Given the description of an element on the screen output the (x, y) to click on. 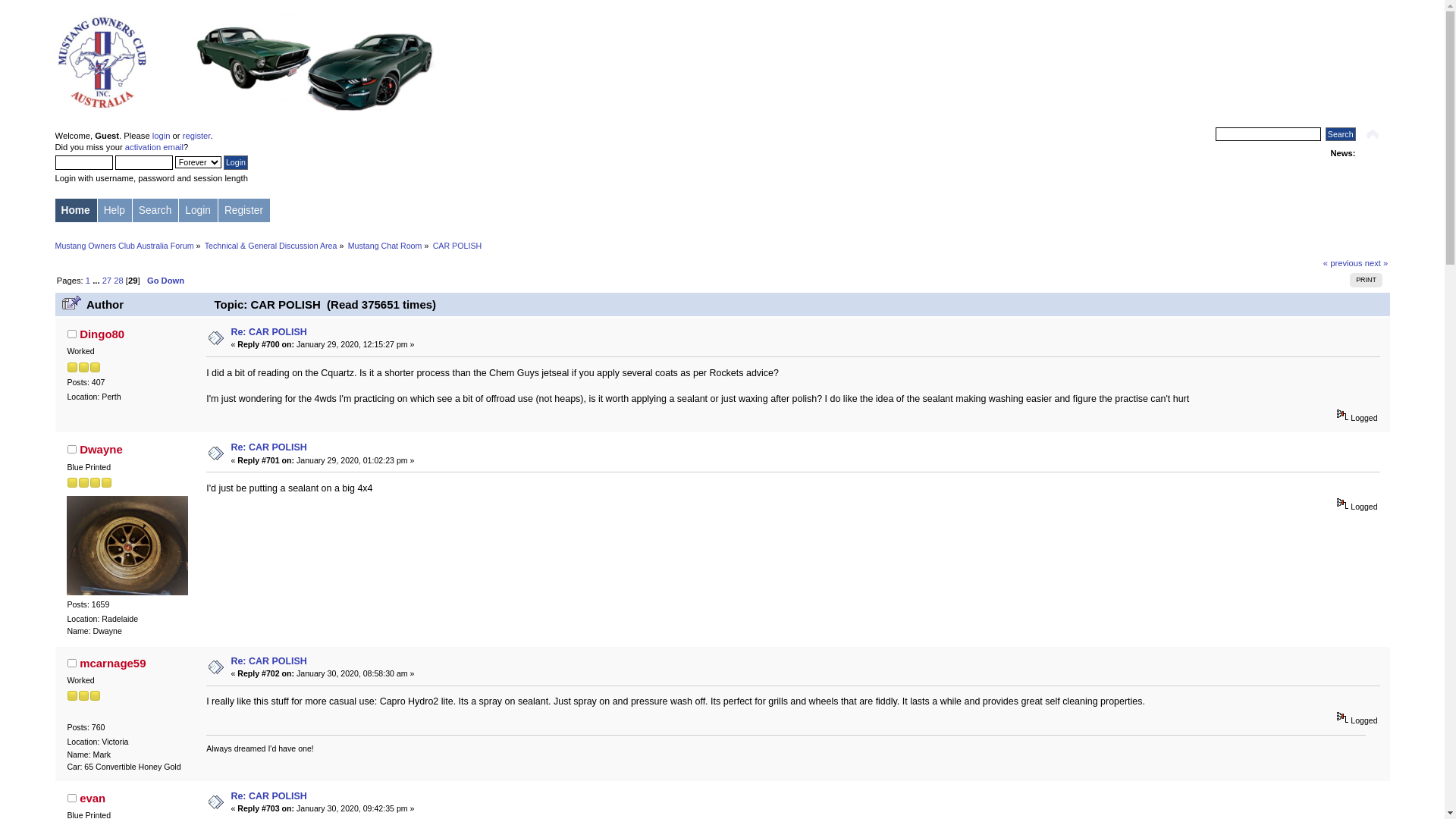
Technical & General Discussion Area Element type: text (270, 245)
PRINT Element type: text (1365, 280)
Search Element type: text (1340, 134)
Mustang Owners Club Australia Forum Element type: text (123, 245)
Home Element type: text (75, 210)
Re: CAR POLISH Element type: text (268, 795)
... Element type: text (96, 280)
Dwayne Element type: text (100, 448)
1 Element type: text (87, 280)
Help Element type: text (114, 210)
Re: CAR POLISH Element type: text (268, 660)
Re: CAR POLISH Element type: text (268, 331)
mcarnage59 Element type: text (112, 662)
28 Element type: text (117, 280)
login Element type: text (161, 135)
evan Element type: text (92, 797)
Dingo80 Element type: text (101, 333)
Mustang Chat Room Element type: text (385, 245)
Go Down Element type: text (165, 280)
register Element type: text (196, 135)
CAR POLISH Element type: text (457, 245)
Search Element type: text (155, 210)
Login Element type: text (235, 162)
Shrink or expand the header. Element type: hover (1372, 134)
activation email Element type: text (154, 146)
Login Element type: text (198, 210)
Re: CAR POLISH Element type: text (268, 447)
27 Element type: text (106, 280)
Register Element type: text (244, 210)
